Given the description of an element on the screen output the (x, y) to click on. 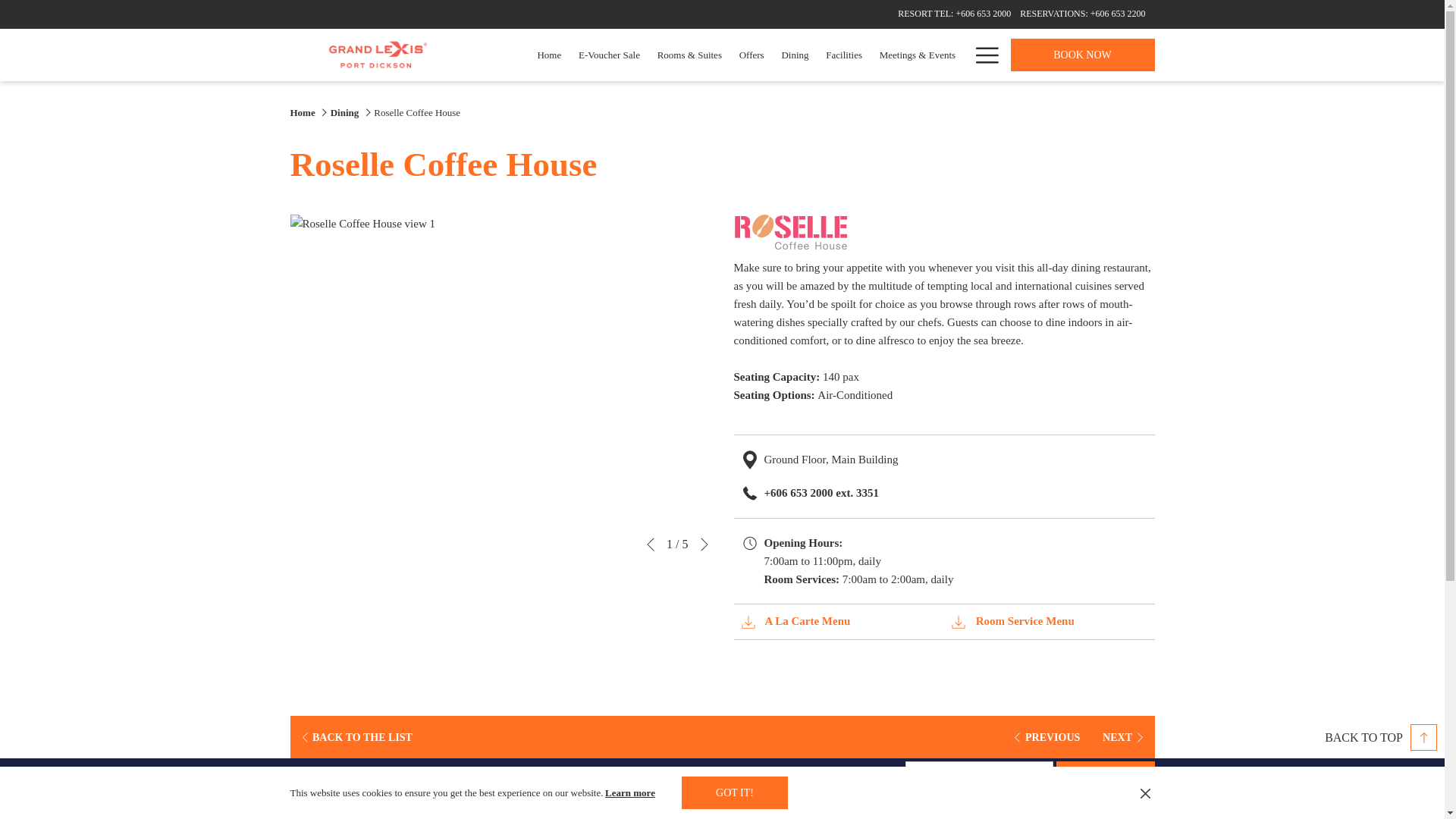
BOOK NOW (1082, 54)
E-Voucher Sale (609, 54)
Menu (986, 55)
Back to the homepage (377, 54)
Facilities (843, 54)
Learn more (631, 792)
GOT IT! (734, 792)
